Given the description of an element on the screen output the (x, y) to click on. 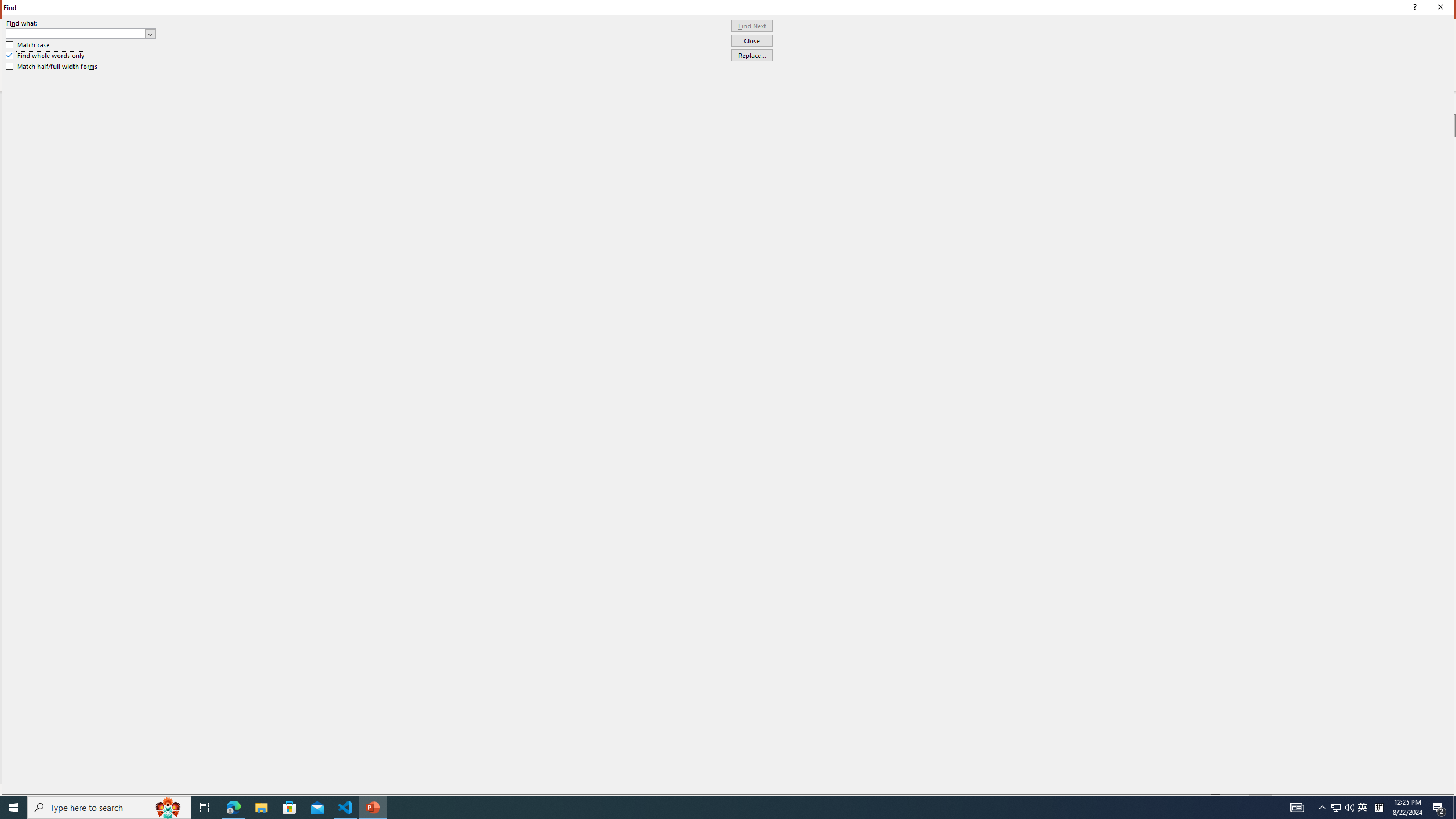
Match half/full width forms (52, 66)
Find whole words only (45, 55)
Find what (75, 33)
Find what (80, 33)
Match case (27, 44)
Find Next (751, 25)
